Given the description of an element on the screen output the (x, y) to click on. 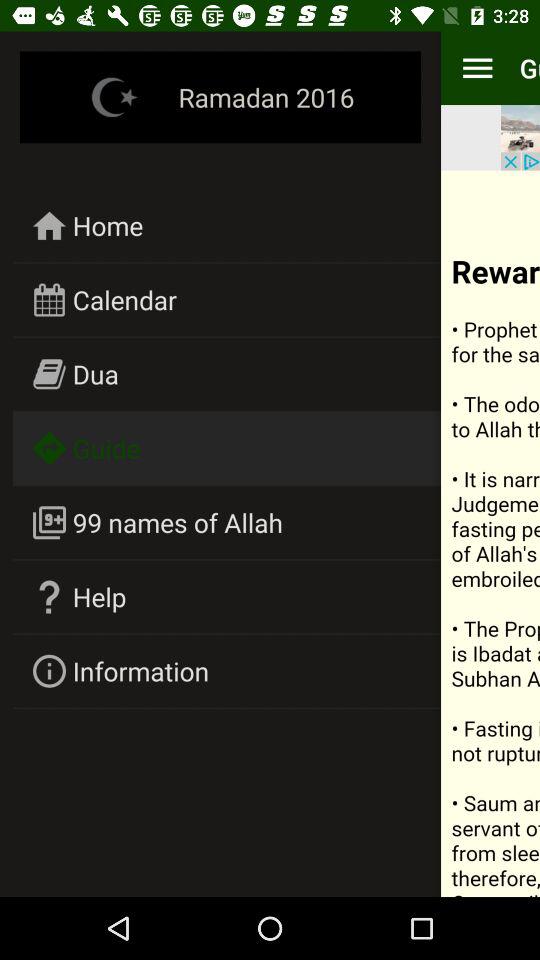
open the item above guide (95, 373)
